Given the description of an element on the screen output the (x, y) to click on. 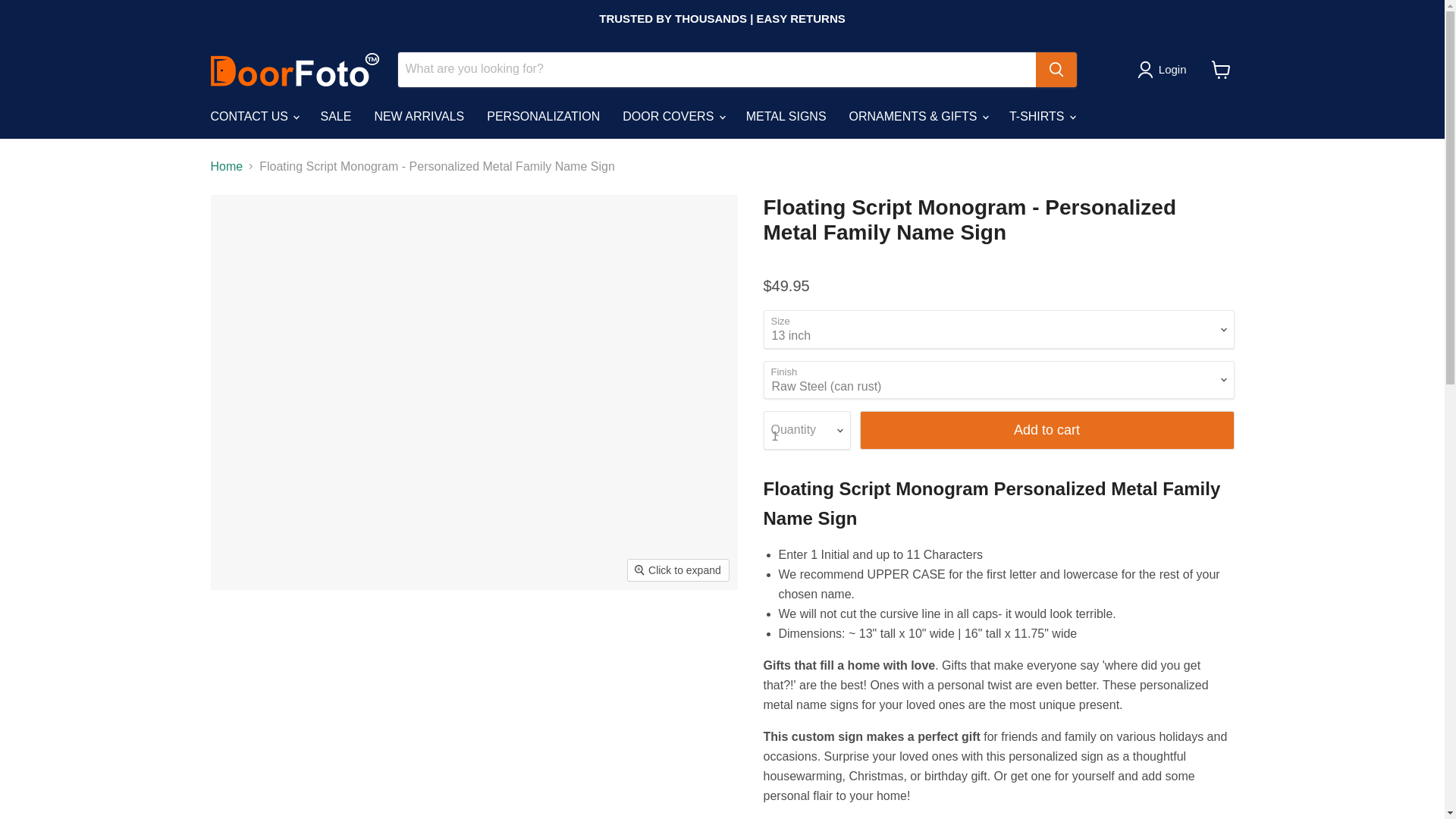
PERSONALIZATION (543, 115)
View cart (1221, 69)
Login (1172, 69)
SALE (335, 115)
NEW ARRIVALS (419, 115)
